Given the description of an element on the screen output the (x, y) to click on. 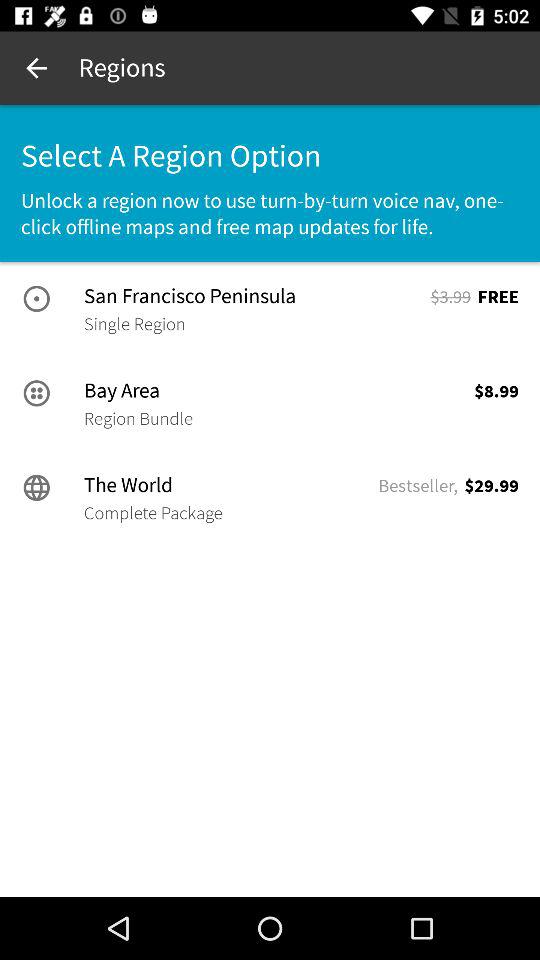
open the icon next to regions item (36, 68)
